Given the description of an element on the screen output the (x, y) to click on. 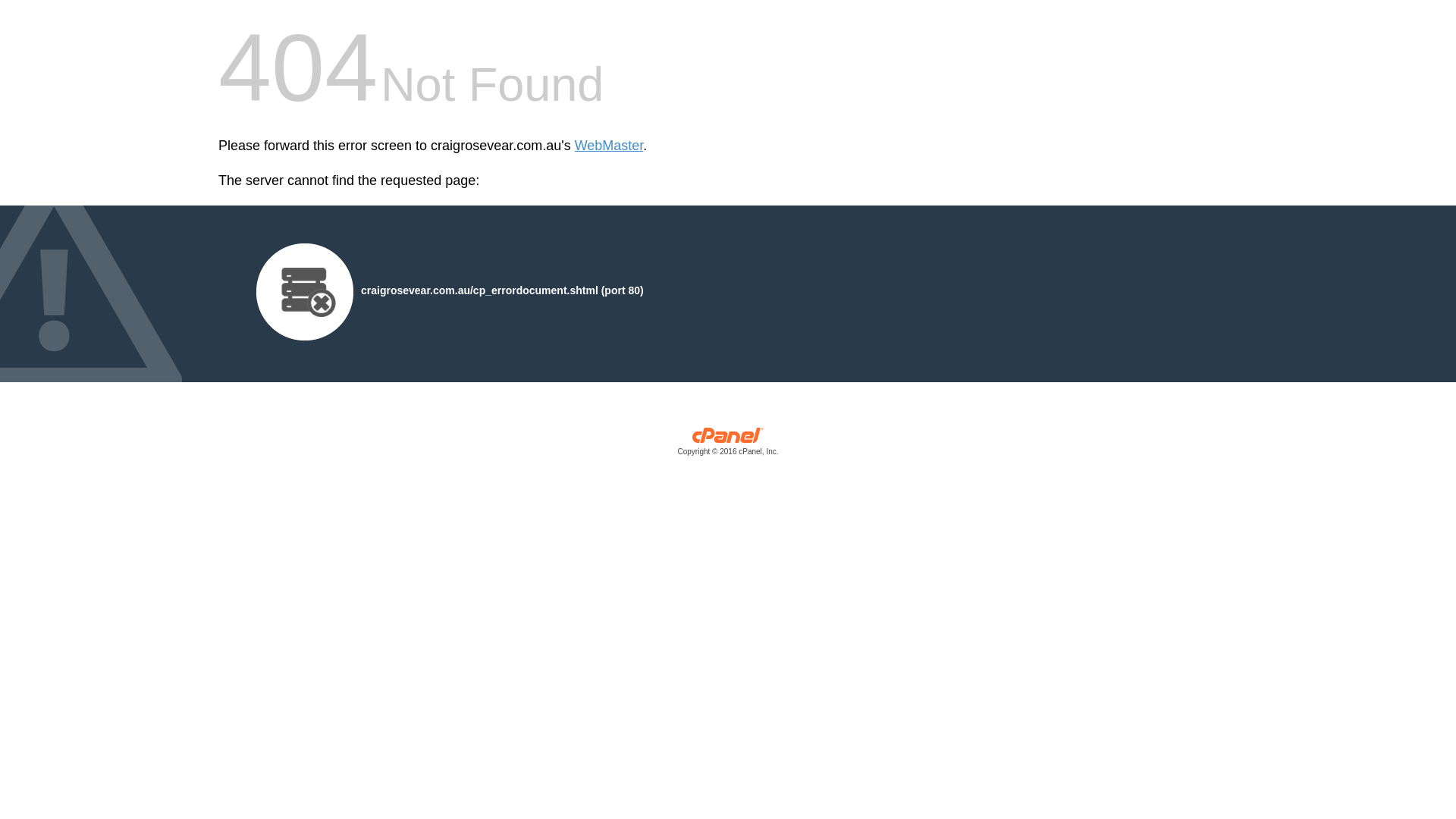
WebMaster Element type: text (608, 145)
